Given the description of an element on the screen output the (x, y) to click on. 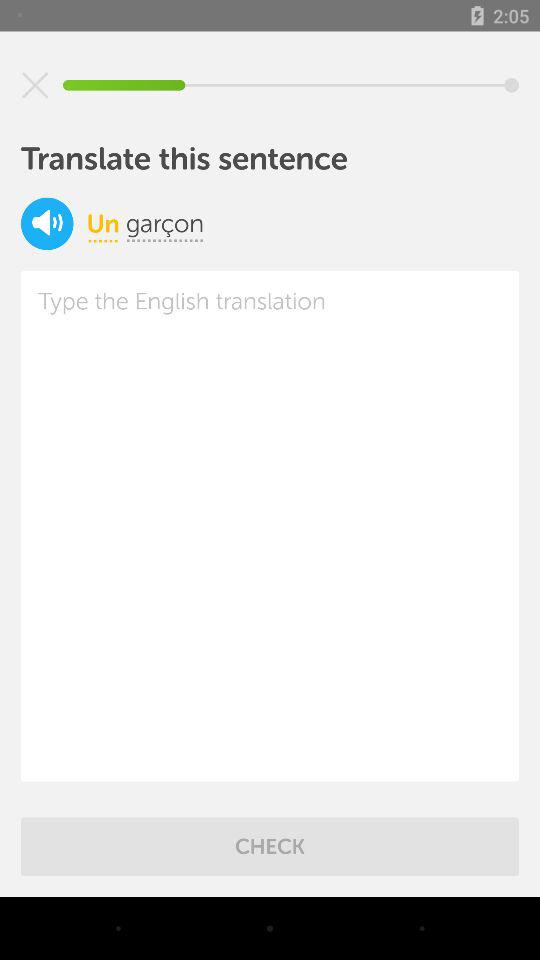
type text (270, 526)
